Given the description of an element on the screen output the (x, y) to click on. 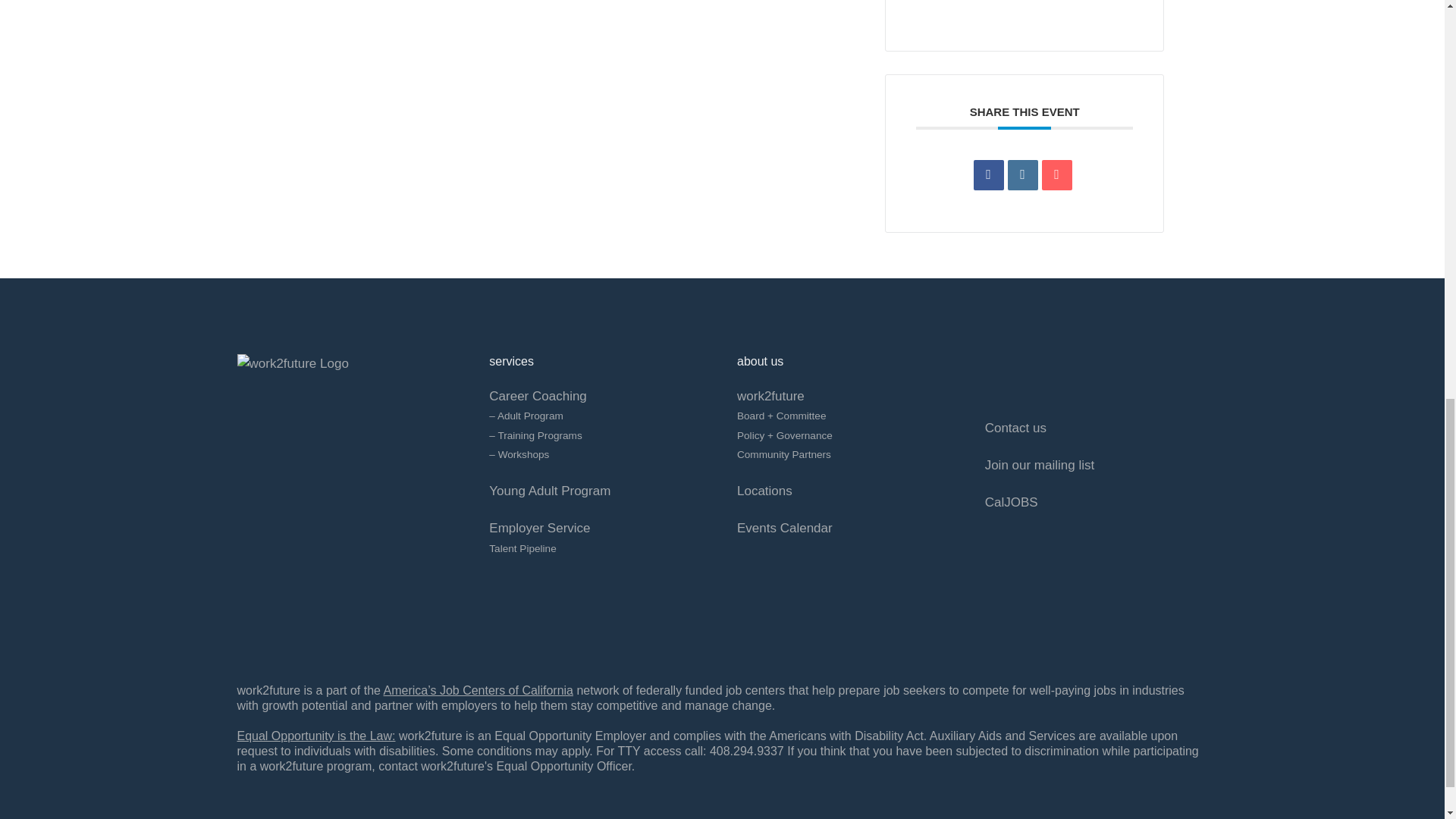
Linkedin (1022, 174)
Share on Facebook (989, 174)
Career Coaching (537, 396)
Email (1056, 174)
